Given the description of an element on the screen output the (x, y) to click on. 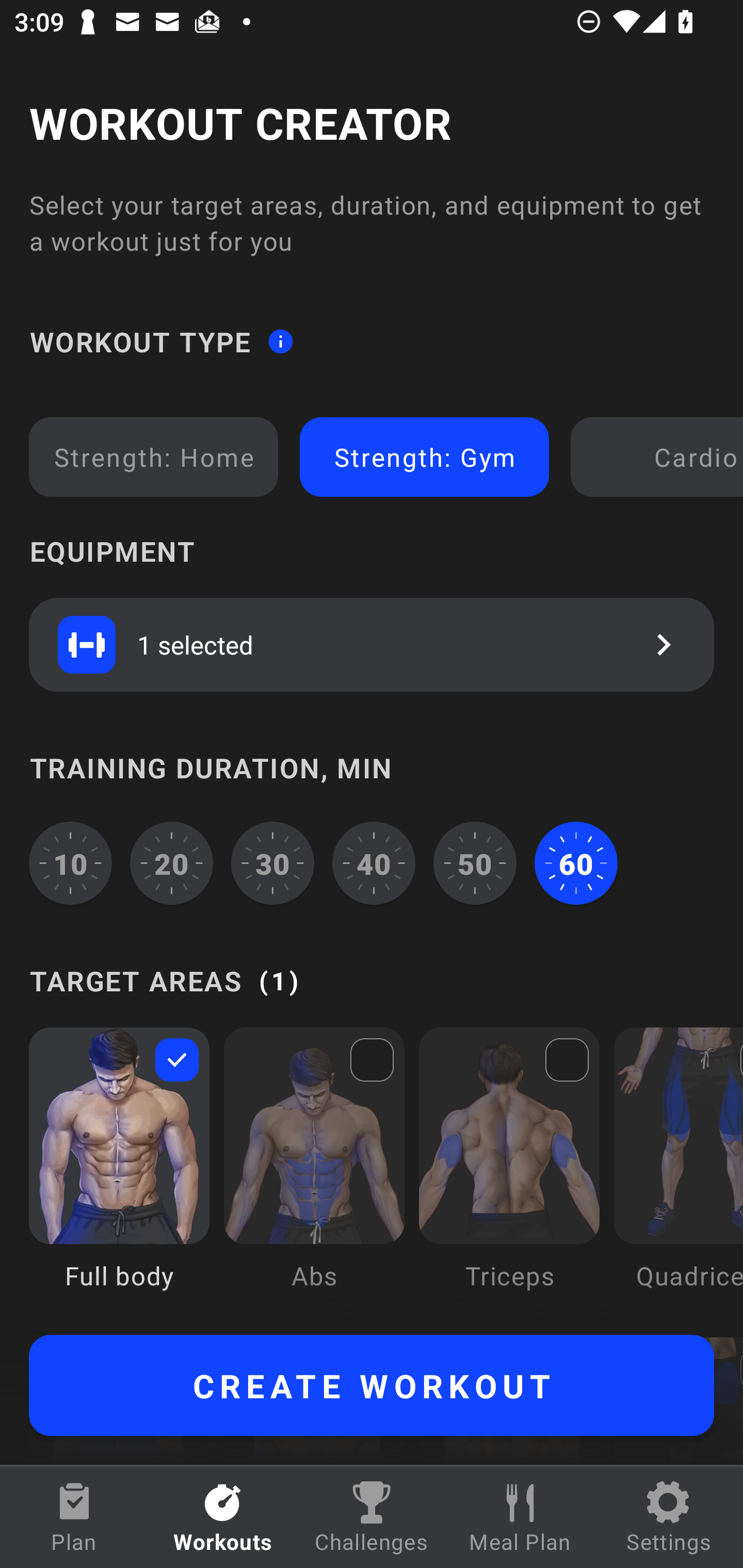
Workout type information button (280, 340)
Strength: Home (153, 457)
Cardio (660, 457)
1 selected (371, 644)
10 (70, 863)
20 (171, 863)
30 (272, 863)
40 (373, 863)
50 (474, 863)
60 (575, 863)
Abs (313, 1172)
Triceps (509, 1172)
Quadriceps (678, 1172)
CREATE WORKOUT (371, 1385)
 Plan  (74, 1517)
 Challenges  (371, 1517)
 Meal Plan  (519, 1517)
 Settings  (668, 1517)
